Given the description of an element on the screen output the (x, y) to click on. 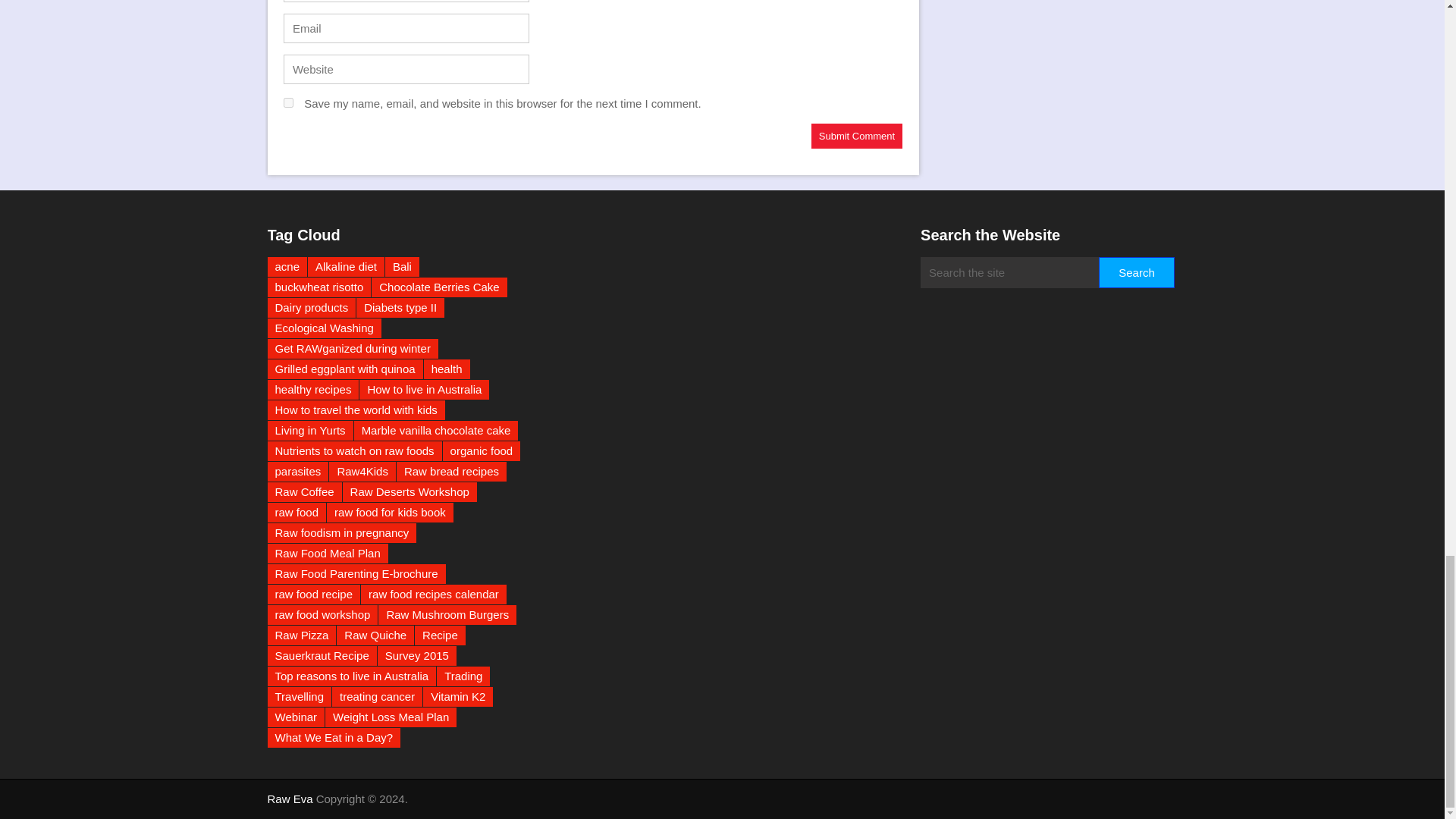
Search the site (1009, 272)
Submit Comment (856, 135)
Search (1136, 272)
Submit Comment (856, 135)
yes (288, 102)
Get healthier and happier together! (289, 798)
